Given the description of an element on the screen output the (x, y) to click on. 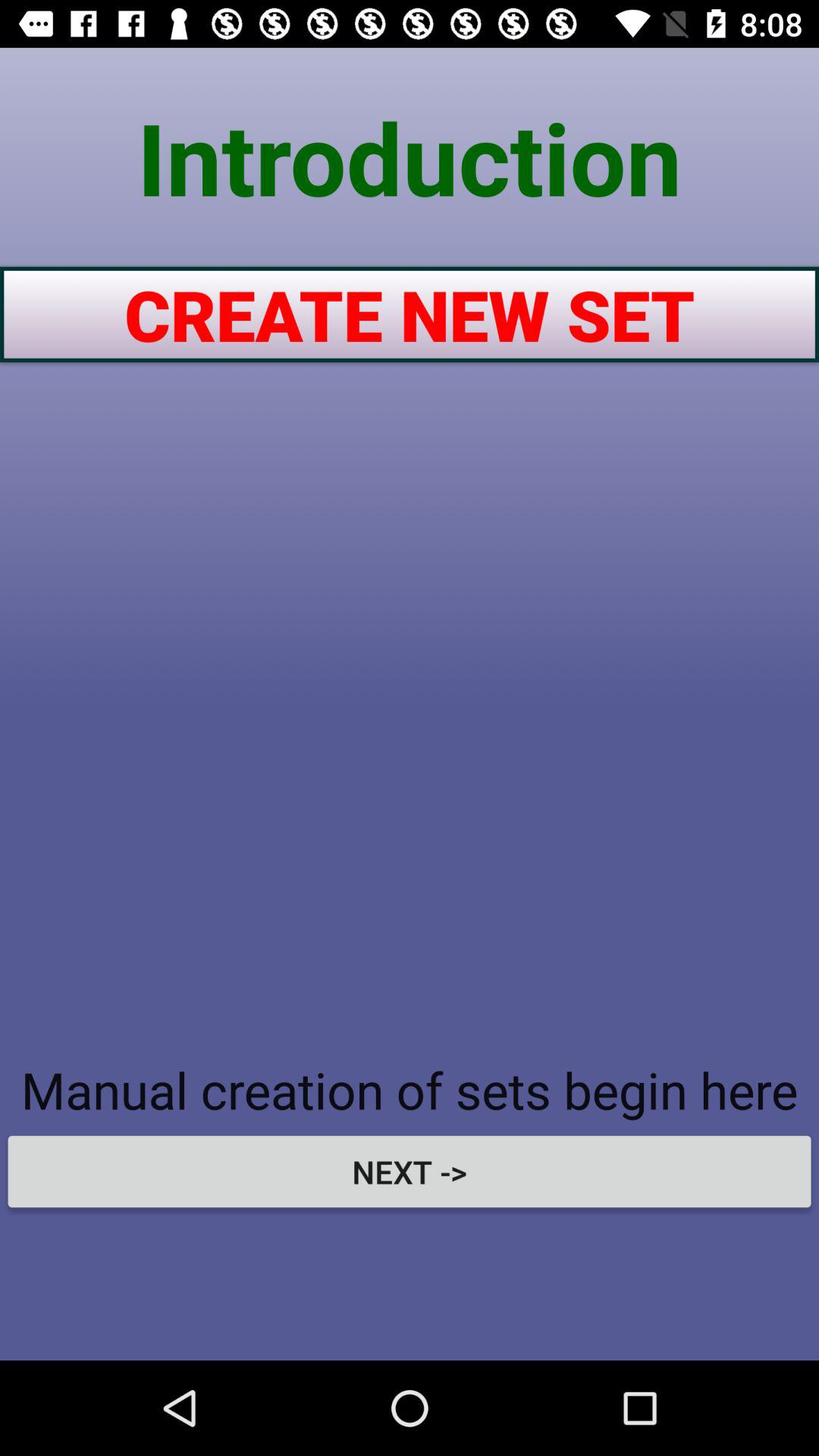
click the item below introduction app (409, 314)
